Given the description of an element on the screen output the (x, y) to click on. 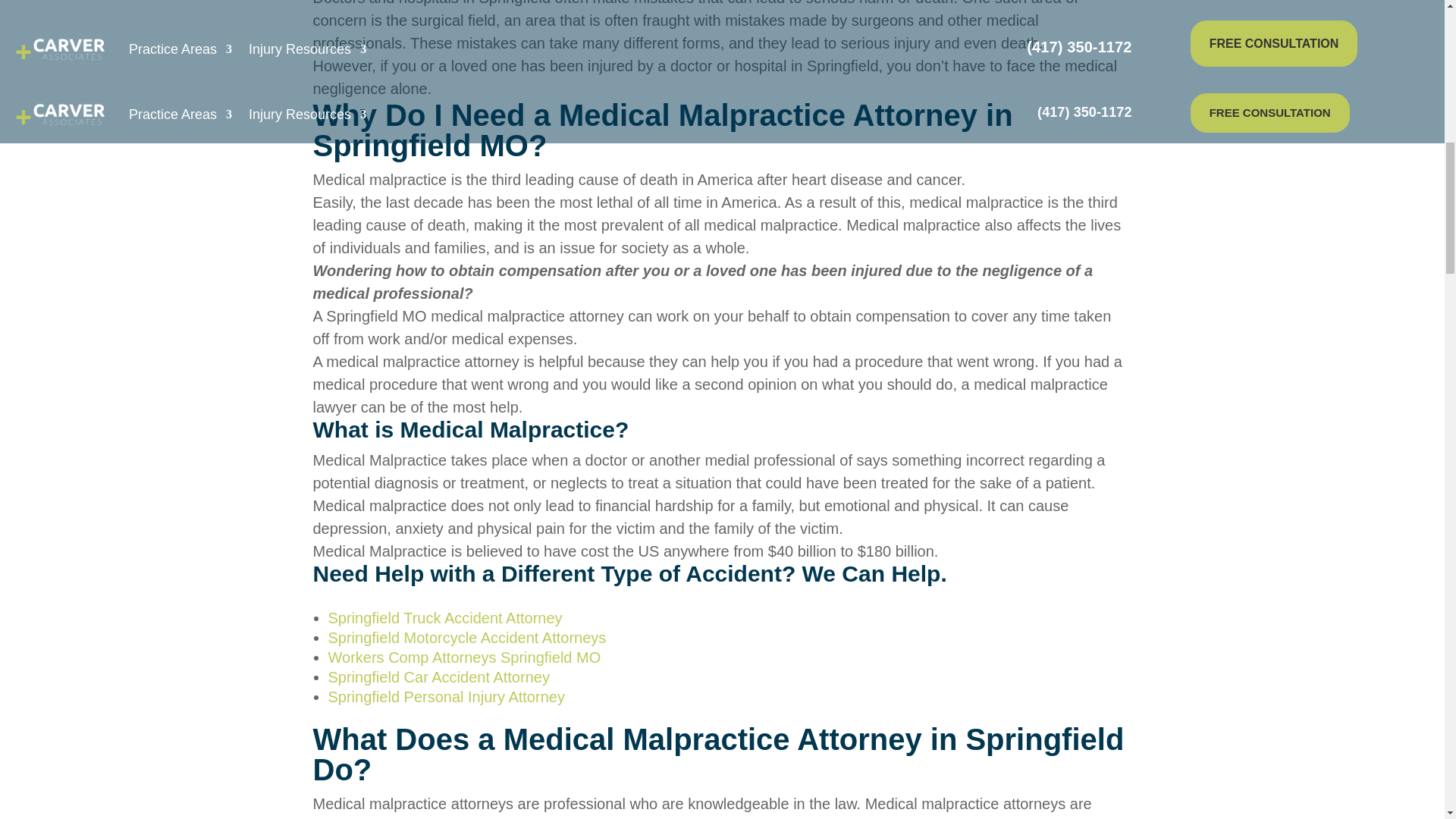
Workers Comp Attorneys Springfield MO (463, 657)
Springfield Car Accident Attorney (437, 677)
Springfield Truck Accident Attorney (444, 617)
Springfield Motorcycle Accident Attorneys (466, 637)
